Given the description of an element on the screen output the (x, y) to click on. 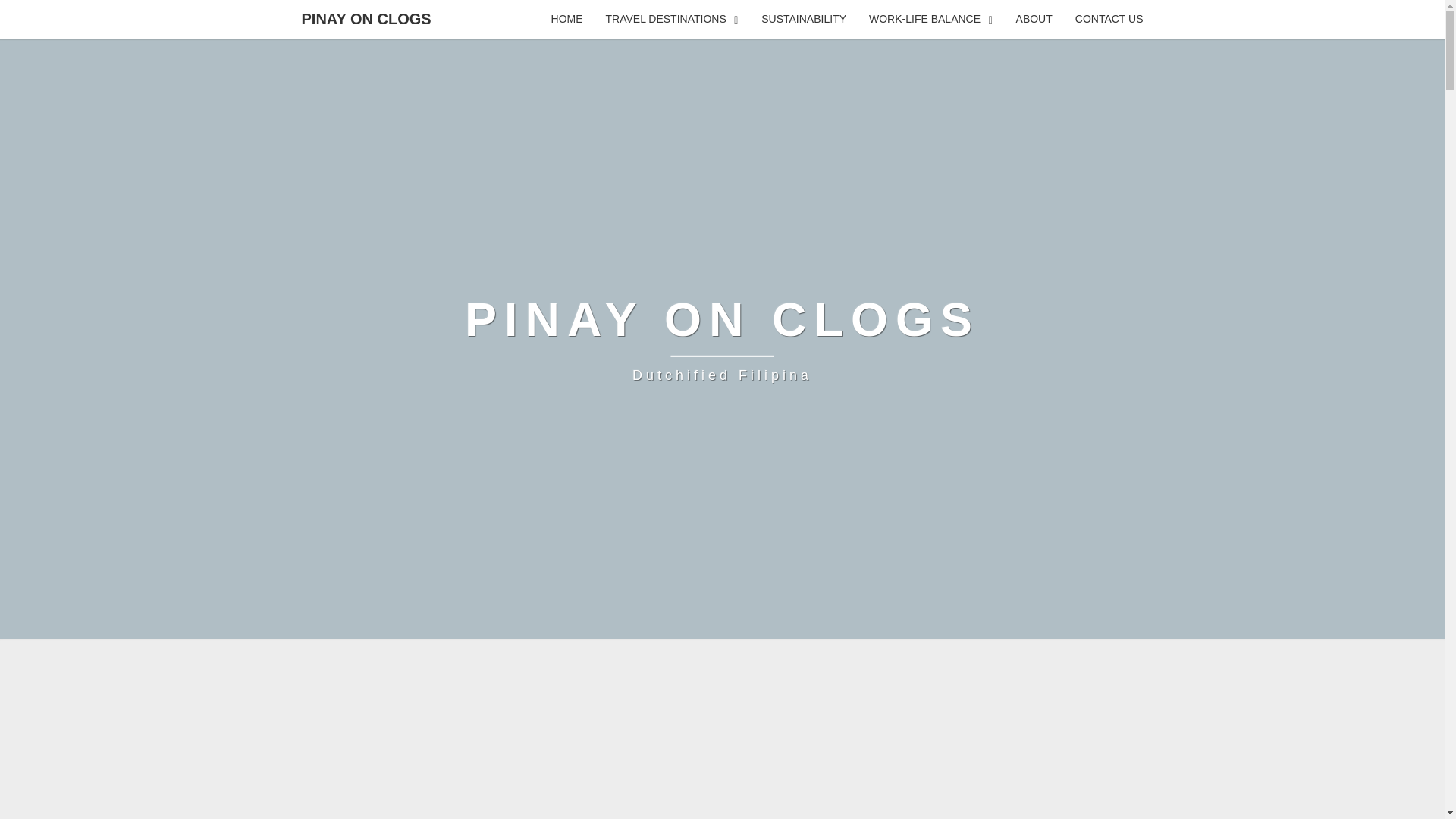
Pinay on Clogs (721, 338)
CONTACT US (1109, 19)
ABOUT (1034, 19)
SUSTAINABILITY (803, 19)
PINAY ON CLOGS (365, 18)
HOME (567, 19)
TRAVEL DESTINATIONS (672, 19)
Advertisement (721, 749)
WORK-LIFE BALANCE (721, 338)
